Given the description of an element on the screen output the (x, y) to click on. 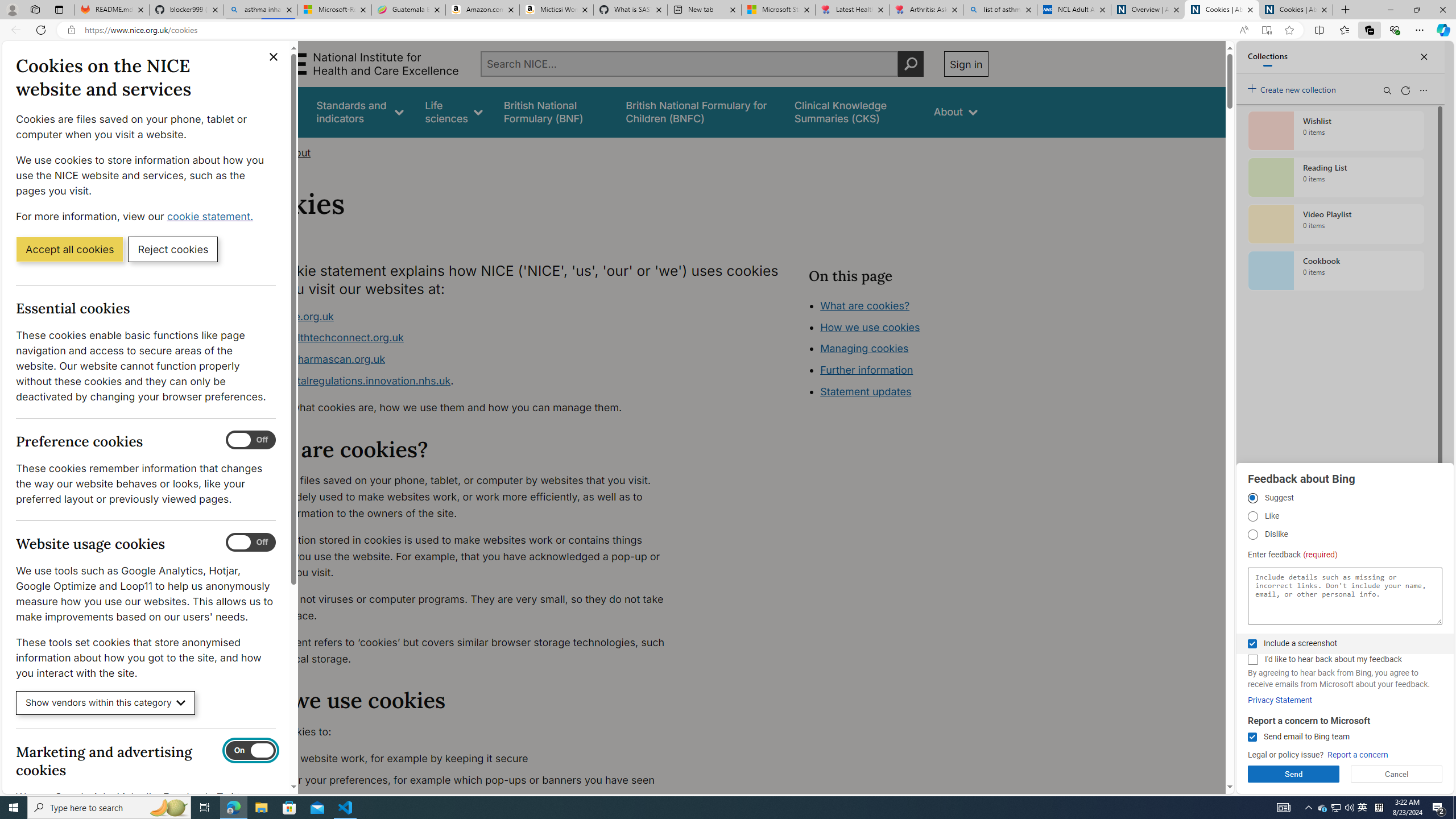
Cancel (1396, 773)
How we use cookies (909, 389)
NCL Adult Asthma Inhaler Choice Guideline (1073, 9)
Marketing and advertising cookies (250, 750)
www.digitalregulations.innovation.nhs.uk. (464, 380)
www.digitalregulations.innovation.nhs.uk (351, 380)
Enter Immersive Reader (F9) (1266, 29)
Life sciences (453, 111)
www.healthtechconnect.org.uk (464, 338)
cookie statement. (Opens in a new window) (211, 215)
